Given the description of an element on the screen output the (x, y) to click on. 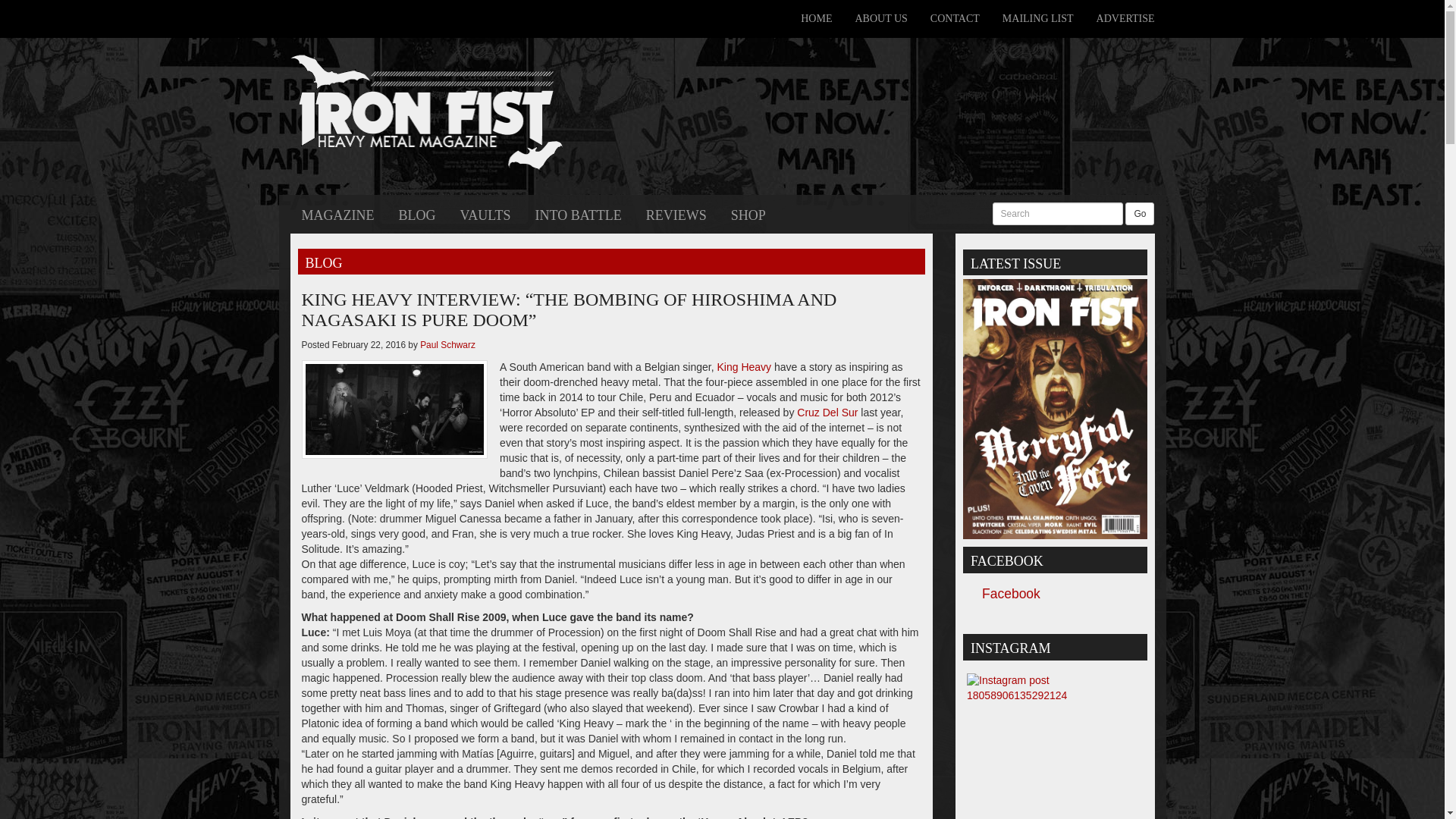
VAULTS (485, 213)
Cruz Del Sur (826, 412)
MAGAZINE (337, 213)
SHOP (748, 213)
Mailing List (1037, 18)
Paul Schwarz (448, 344)
REVIEWS (675, 213)
CONTACT (954, 18)
King Heavy (744, 367)
BLOG (416, 213)
Go (1139, 213)
HOME (816, 18)
INTO BATTLE (578, 213)
About Us (880, 18)
Contact (954, 18)
